Given the description of an element on the screen output the (x, y) to click on. 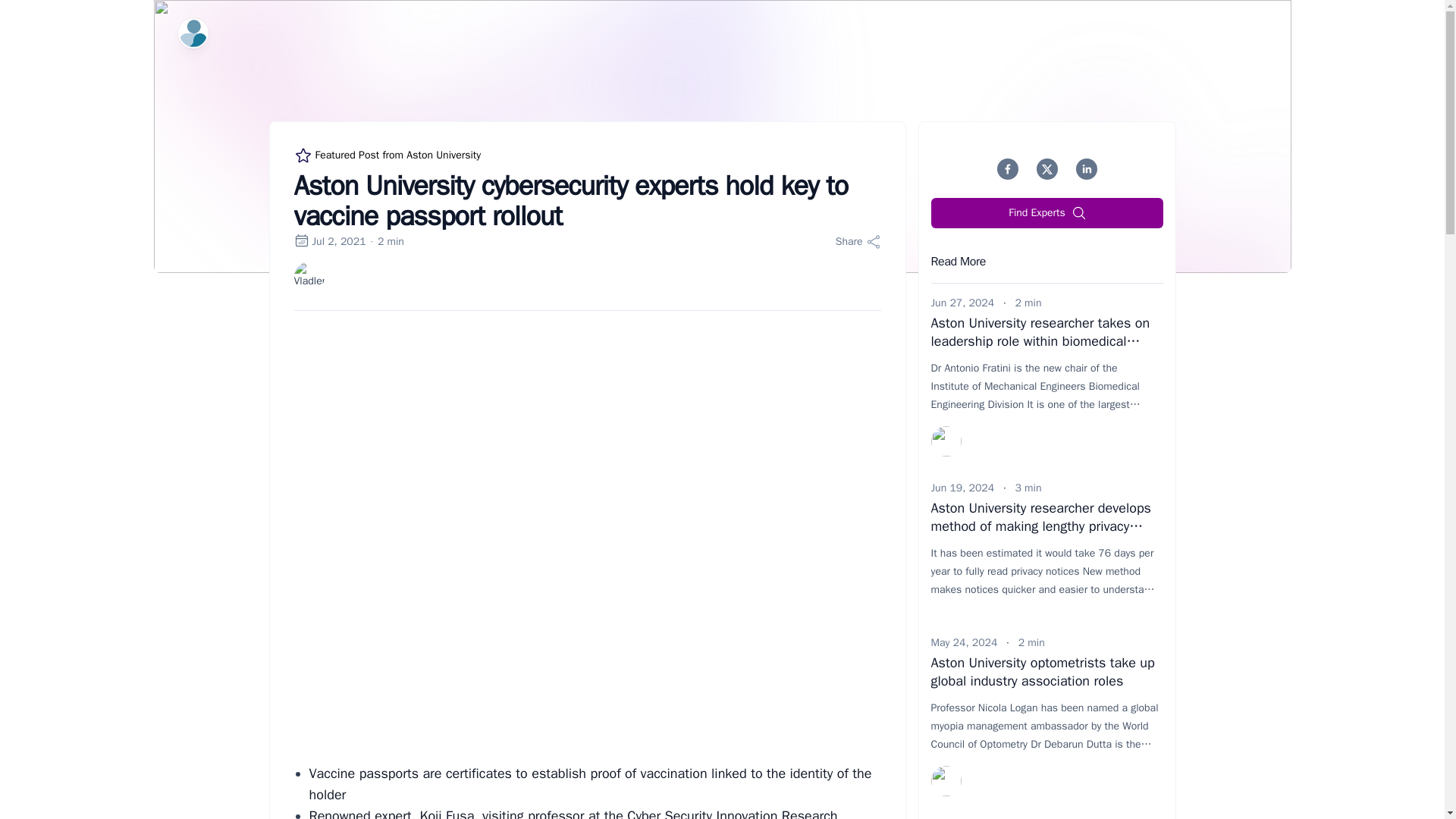
ExpertFile Inc. (192, 33)
Find Experts (1047, 213)
Share (857, 241)
